Given the description of an element on the screen output the (x, y) to click on. 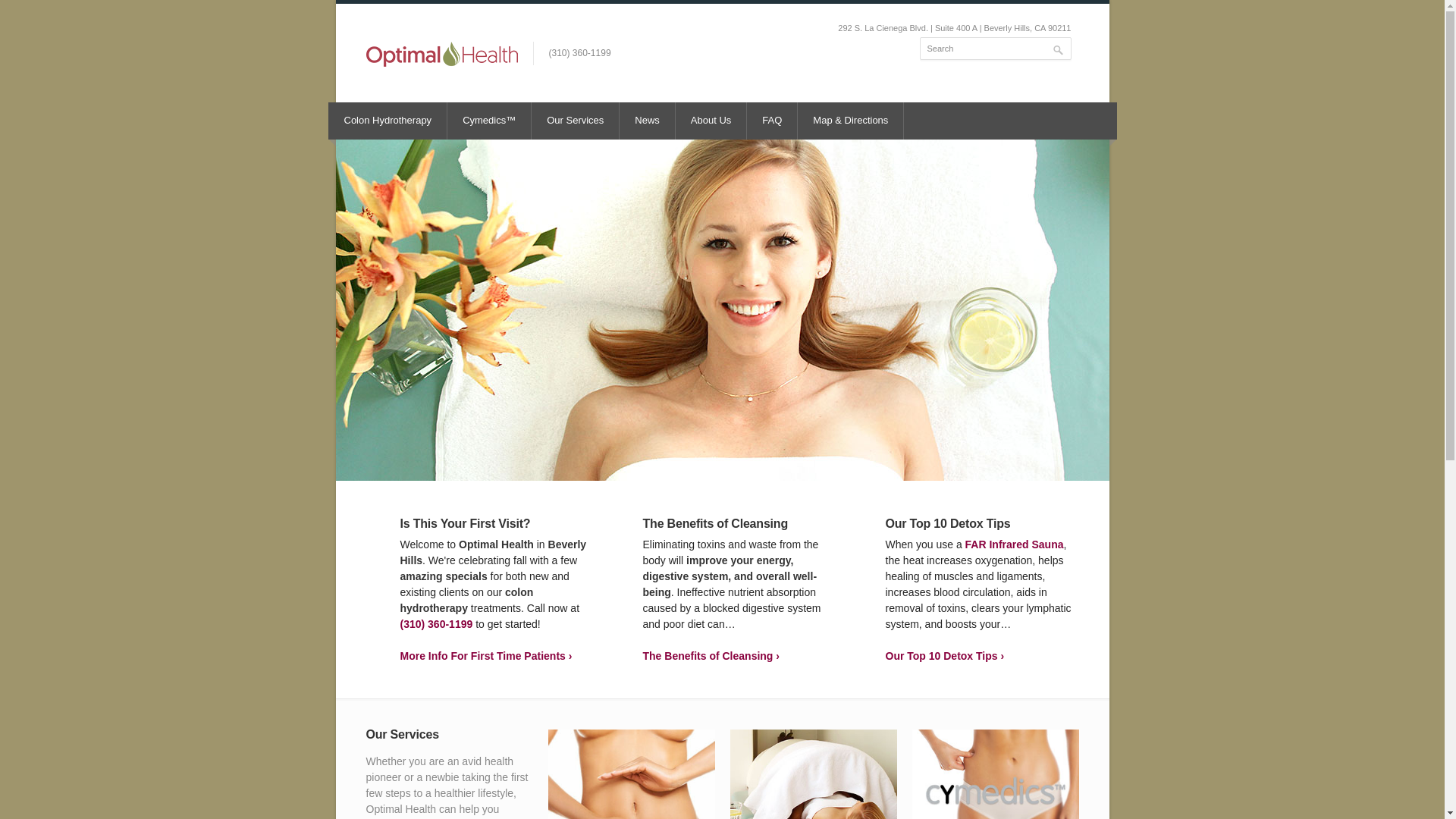
Services (575, 120)
Colon Hydrotherapy (388, 120)
Search (994, 47)
Staff (710, 120)
FAR Infrared Sauna (1014, 544)
Colonic Colon Hydrotherapy (388, 120)
Our Services (575, 120)
Frequently Asked Questions (771, 120)
News (630, 774)
News (812, 774)
FAQ (647, 120)
About Us (647, 120)
Search (771, 120)
